Given the description of an element on the screen output the (x, y) to click on. 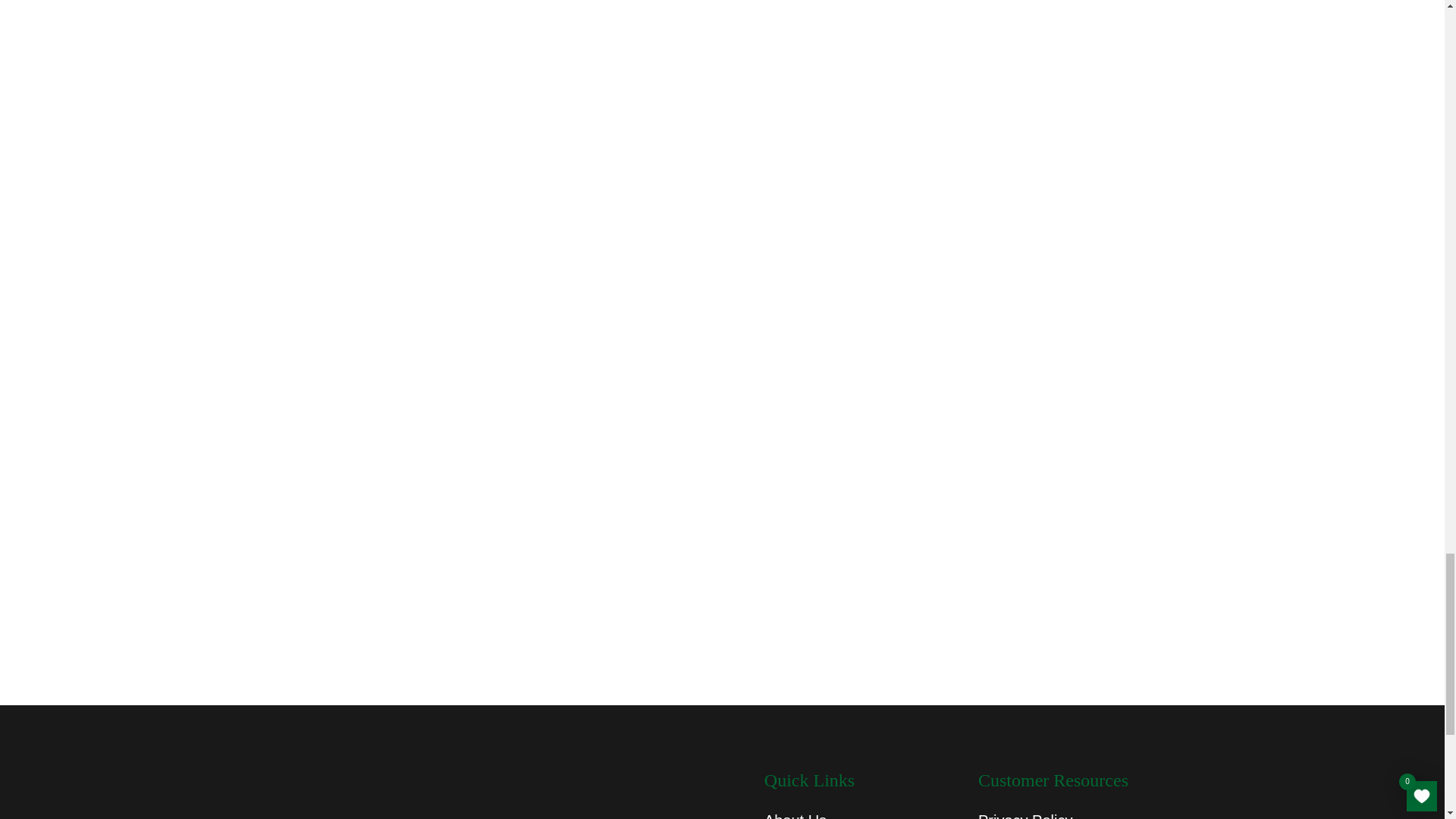
Gem Dragon Auctions  (384, 794)
